Given the description of an element on the screen output the (x, y) to click on. 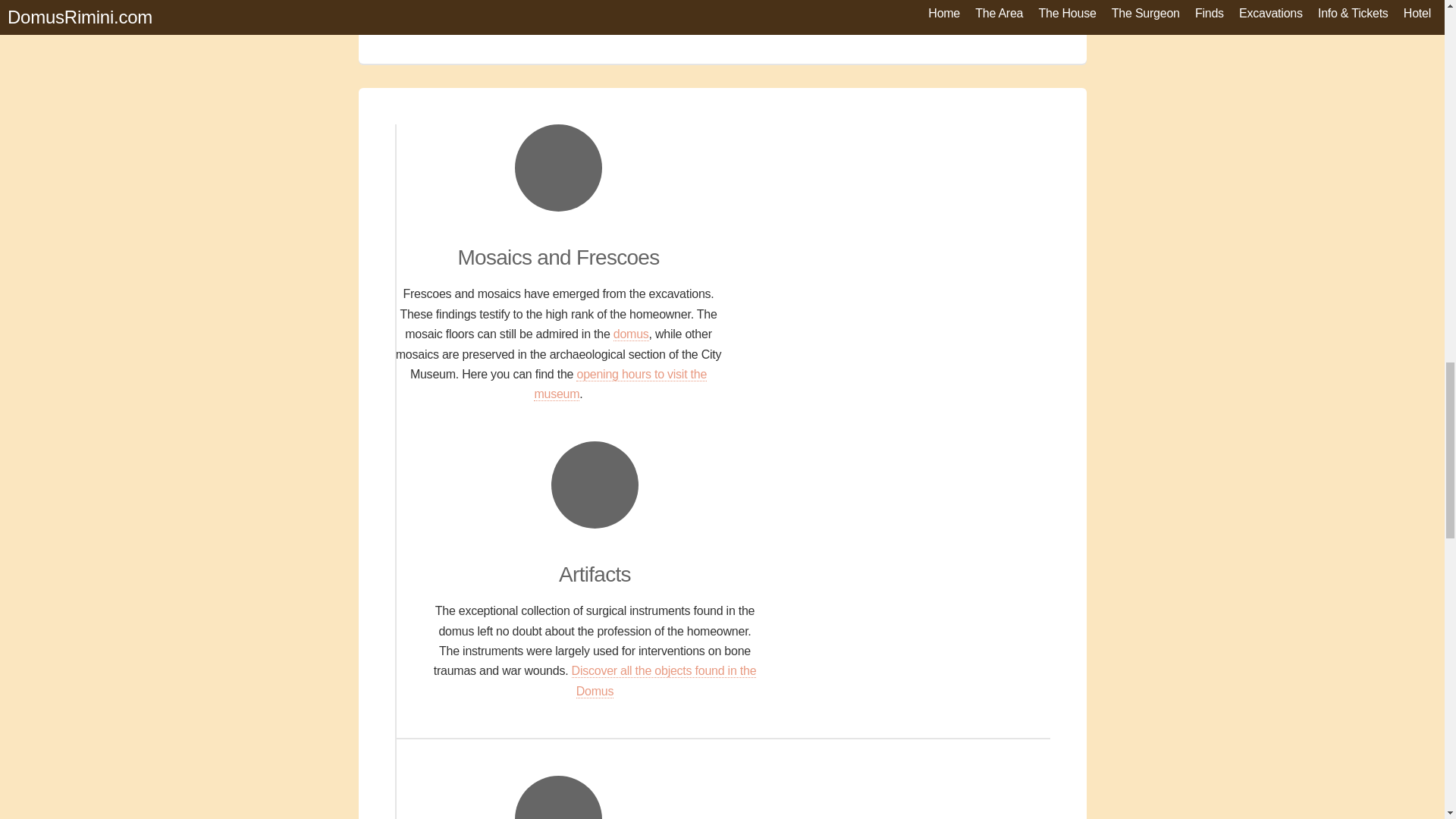
domus (630, 334)
opening hours to visit the museum (620, 384)
Discover all the objects found in the Domus (664, 680)
YouTube video Domus del Chirurgo (721, 13)
